Given the description of an element on the screen output the (x, y) to click on. 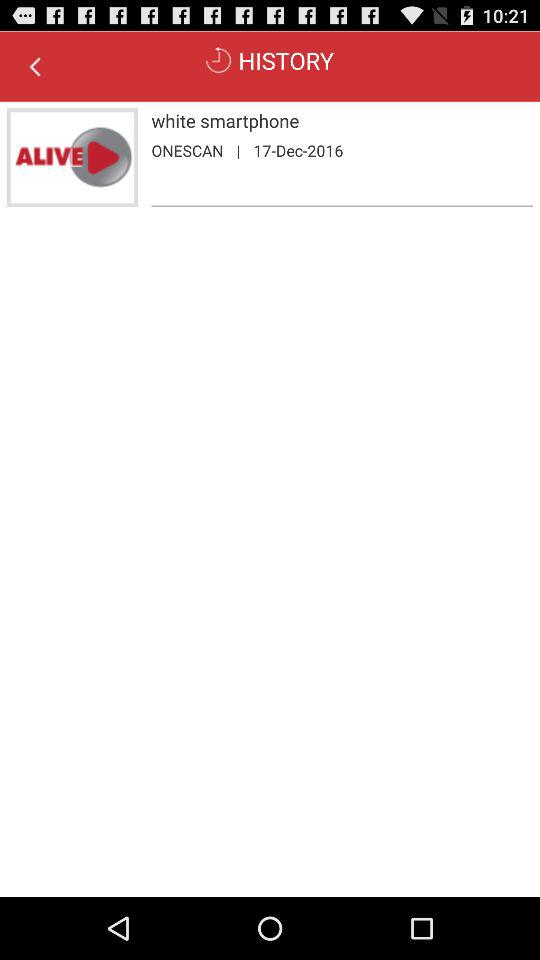
open app next to onescan app (238, 150)
